Given the description of an element on the screen output the (x, y) to click on. 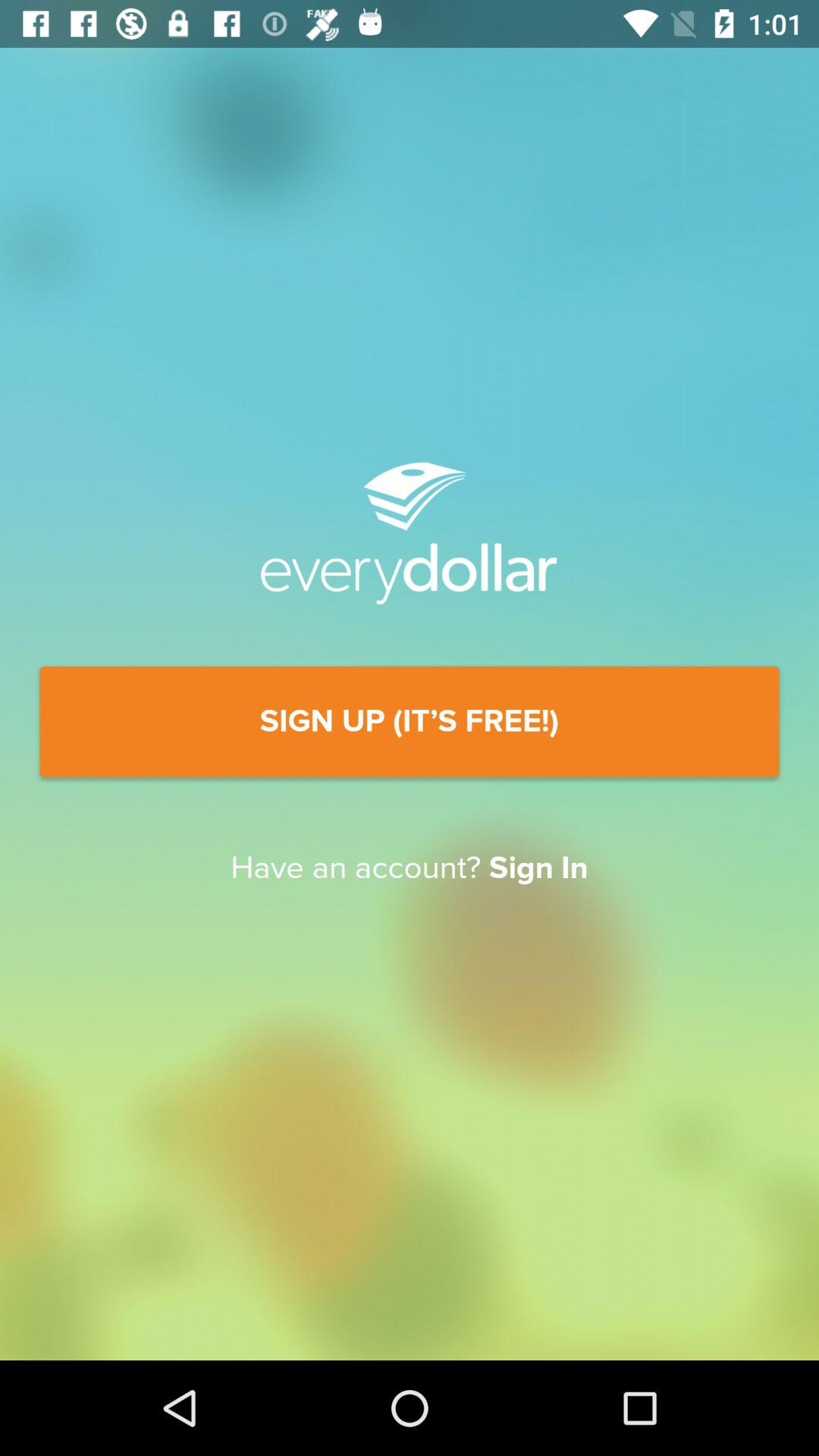
scroll to have an account item (409, 868)
